Given the description of an element on the screen output the (x, y) to click on. 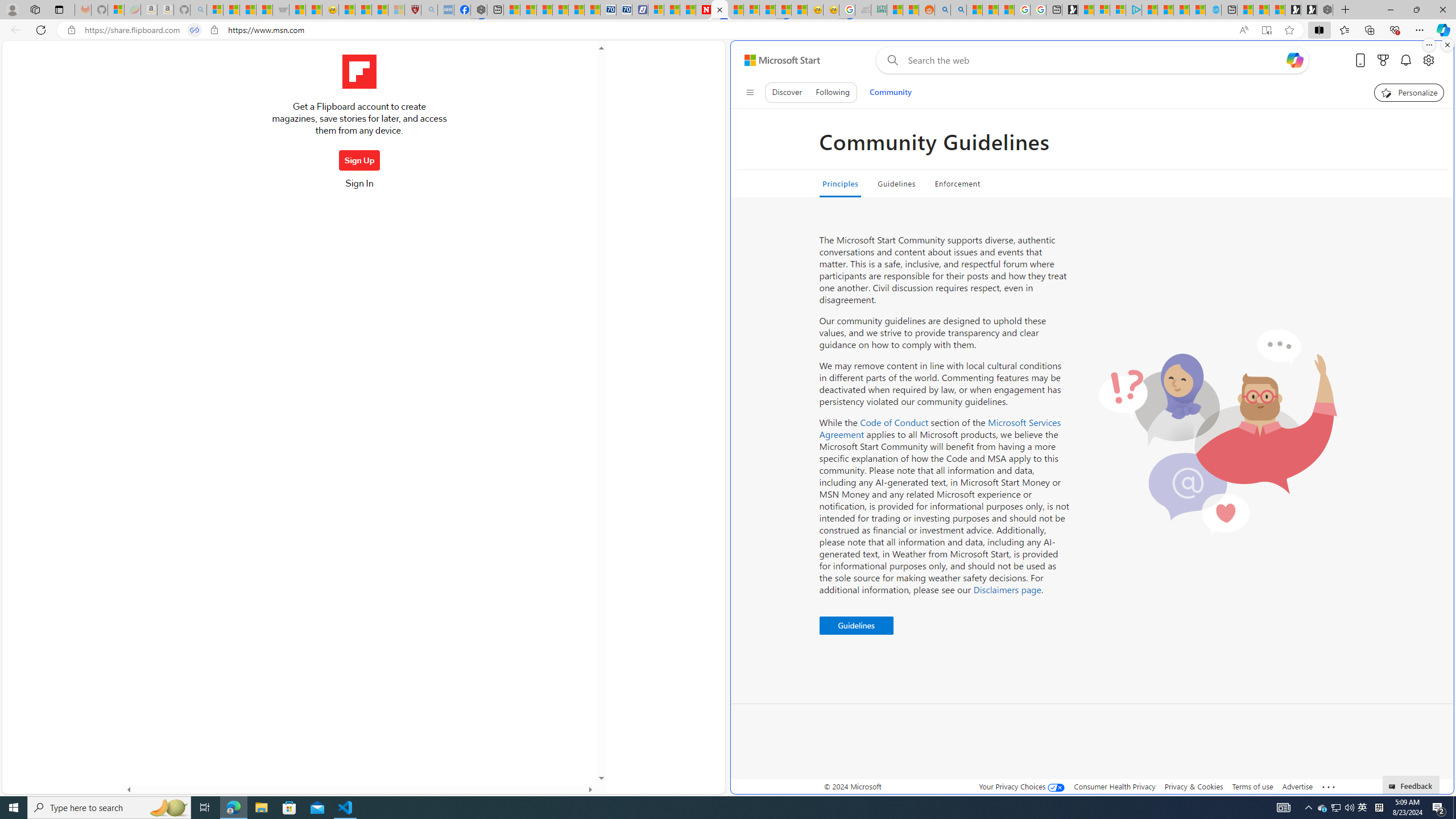
Trusted Community Engagement and Contributions | Guidelines (719, 9)
Nordace - Nordace Siena Is Not An Ordinary Backpack (1324, 9)
Robert H. Shmerling, MD - Harvard Health (413, 9)
Consumer Health Privacy (1115, 785)
Skip to content (777, 59)
